Given the description of an element on the screen output the (x, y) to click on. 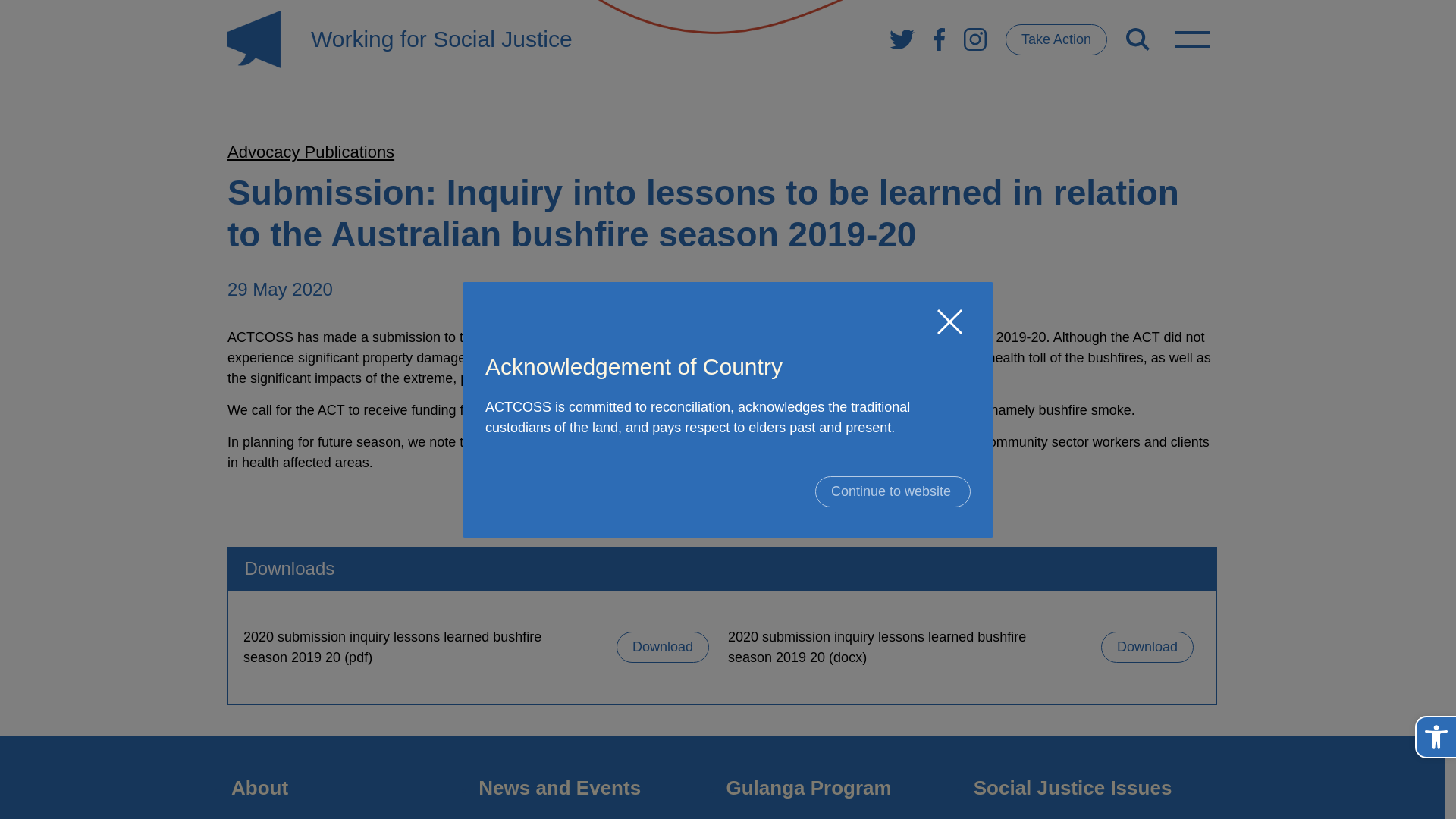
Accessibility Tools (1435, 736)
Continue to website (893, 490)
